Given the description of an element on the screen output the (x, y) to click on. 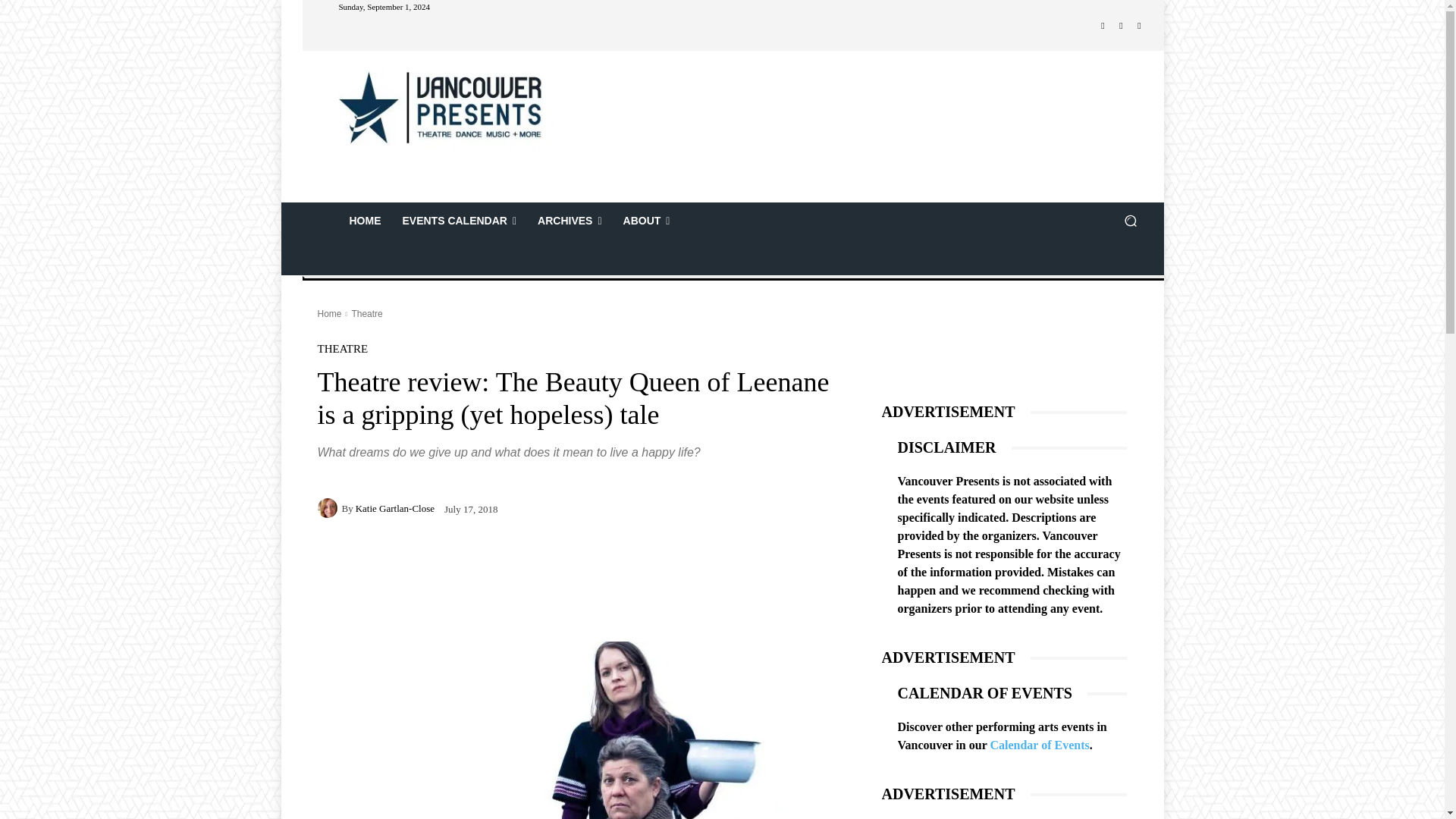
Rss (1138, 25)
HOME (364, 220)
ARCHIVES (569, 220)
Instagram (1120, 25)
Facebook (1102, 25)
View all posts in Theatre (365, 313)
EVENTS CALENDAR (459, 220)
